Given the description of an element on the screen output the (x, y) to click on. 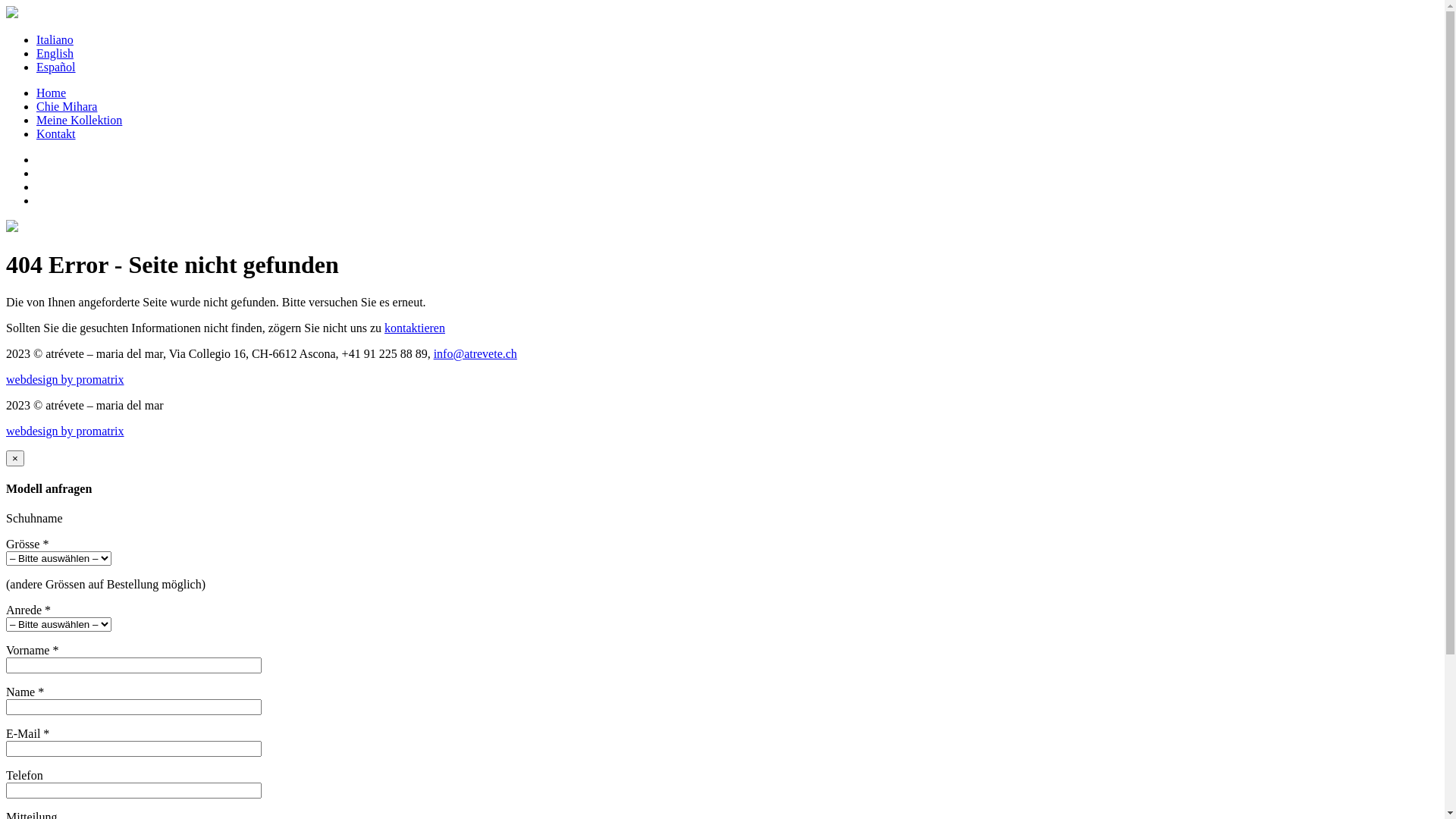
info@atrevete.ch Element type: text (475, 353)
Italiano Element type: text (54, 39)
Home Element type: text (50, 92)
Meine Kollektion Element type: text (79, 119)
webdesign by promatrix Element type: text (65, 430)
webdesign by promatrix Element type: text (65, 379)
English Element type: text (54, 53)
kontaktieren Element type: text (414, 327)
Chie Mihara Element type: text (66, 106)
Kontakt Element type: text (55, 133)
